Given the description of an element on the screen output the (x, y) to click on. 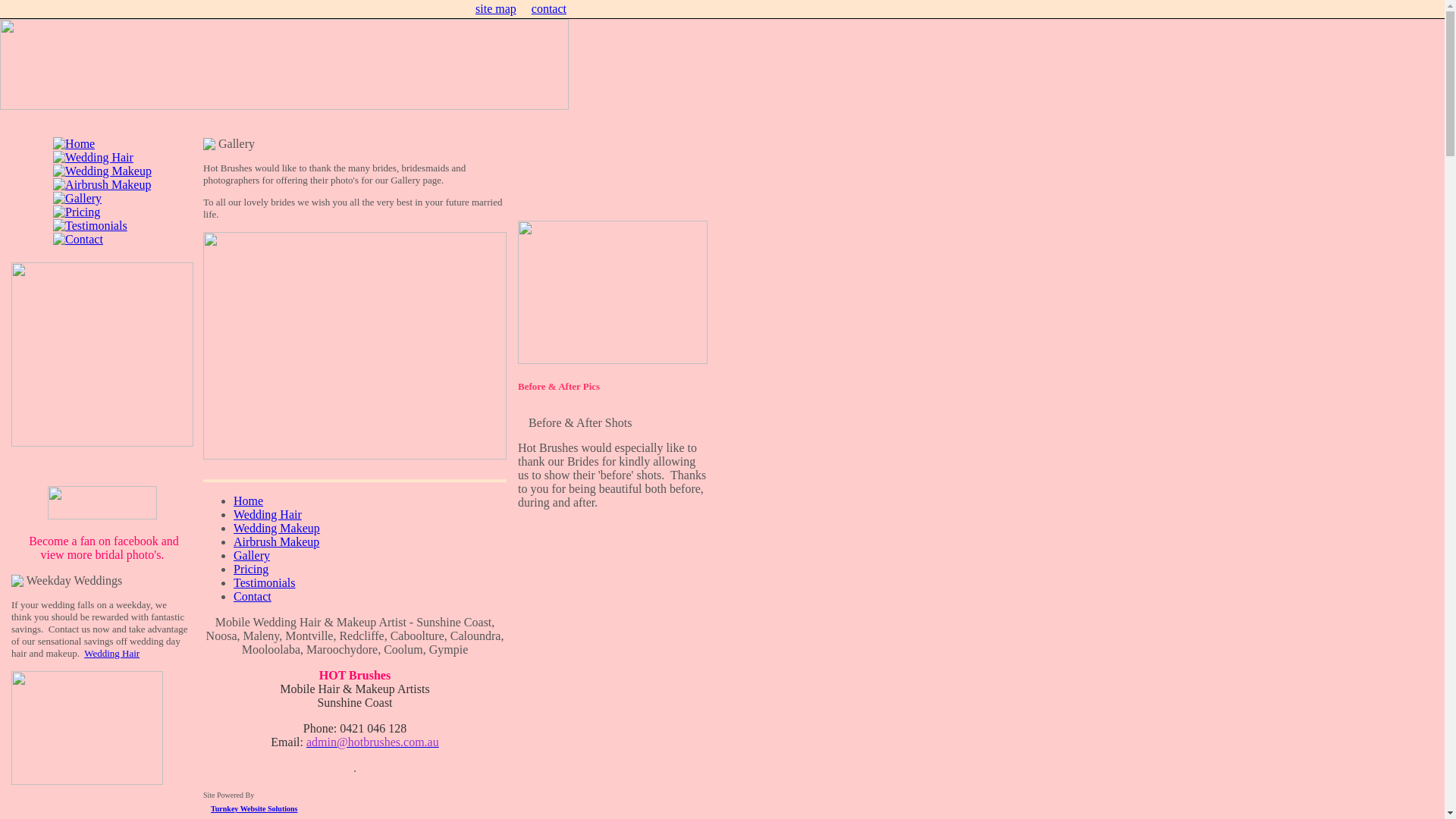
Wedding Hair Element type: text (267, 514)
Turnkey Website Solutions Element type: text (253, 808)
Testimonials Element type: text (264, 582)
contact Element type: text (548, 8)
Pricing Element type: text (250, 568)
Wedding Hair Element type: text (111, 652)
site map Element type: text (495, 8)
Wedding Makeup Element type: text (276, 527)
Airbrush Makeup Element type: text (276, 541)
admin@hotbrushes.com.au Element type: text (372, 741)
Gallery Element type: text (251, 555)
Contact Element type: text (252, 595)
Home Element type: text (248, 500)
